Given the description of an element on the screen output the (x, y) to click on. 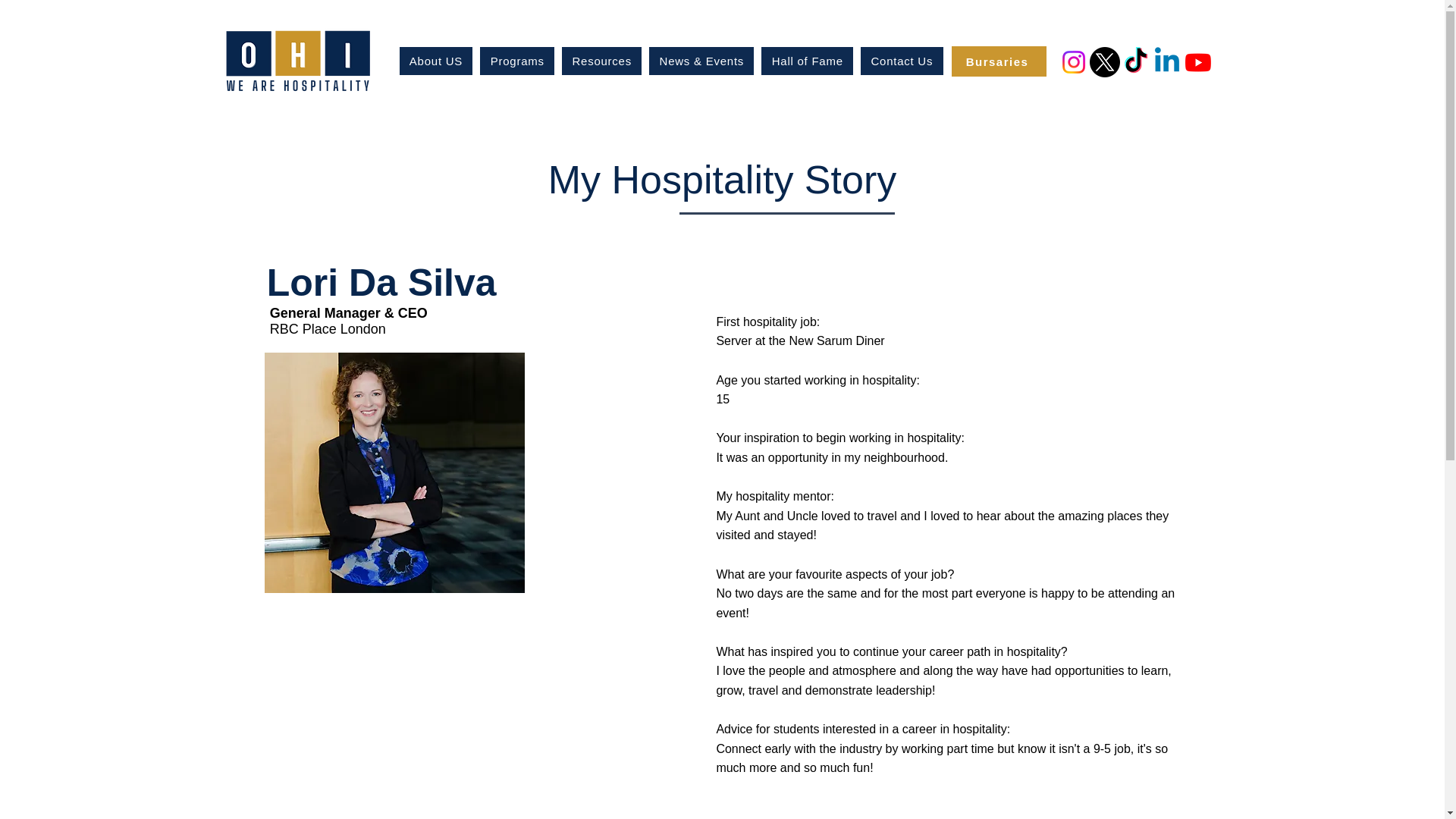
Contact Us (901, 60)
Bursaries (997, 60)
About US (436, 60)
Hall of Fame (806, 60)
